Given the description of an element on the screen output the (x, y) to click on. 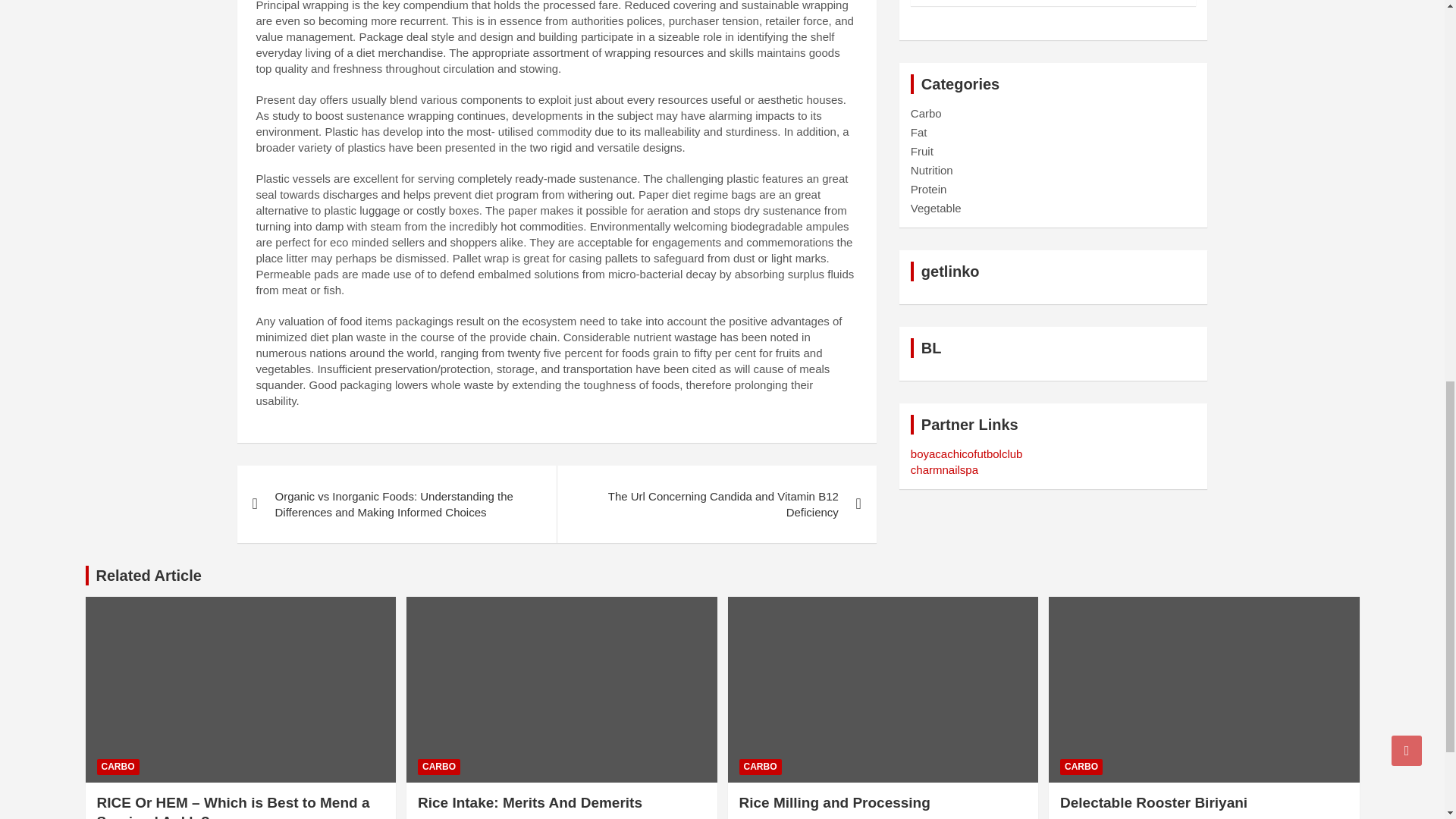
Rice Intake: Merits And Demerits (446, 818)
The Url Concerning Candida and Vitamin B12 Deficiency (716, 504)
Protein (929, 188)
Fruit (922, 151)
CARBO (118, 766)
Vegetable (935, 207)
Carbo (926, 113)
Nutrition (932, 169)
boyacachicofutbolclub (967, 453)
Fat (919, 132)
